Given the description of an element on the screen output the (x, y) to click on. 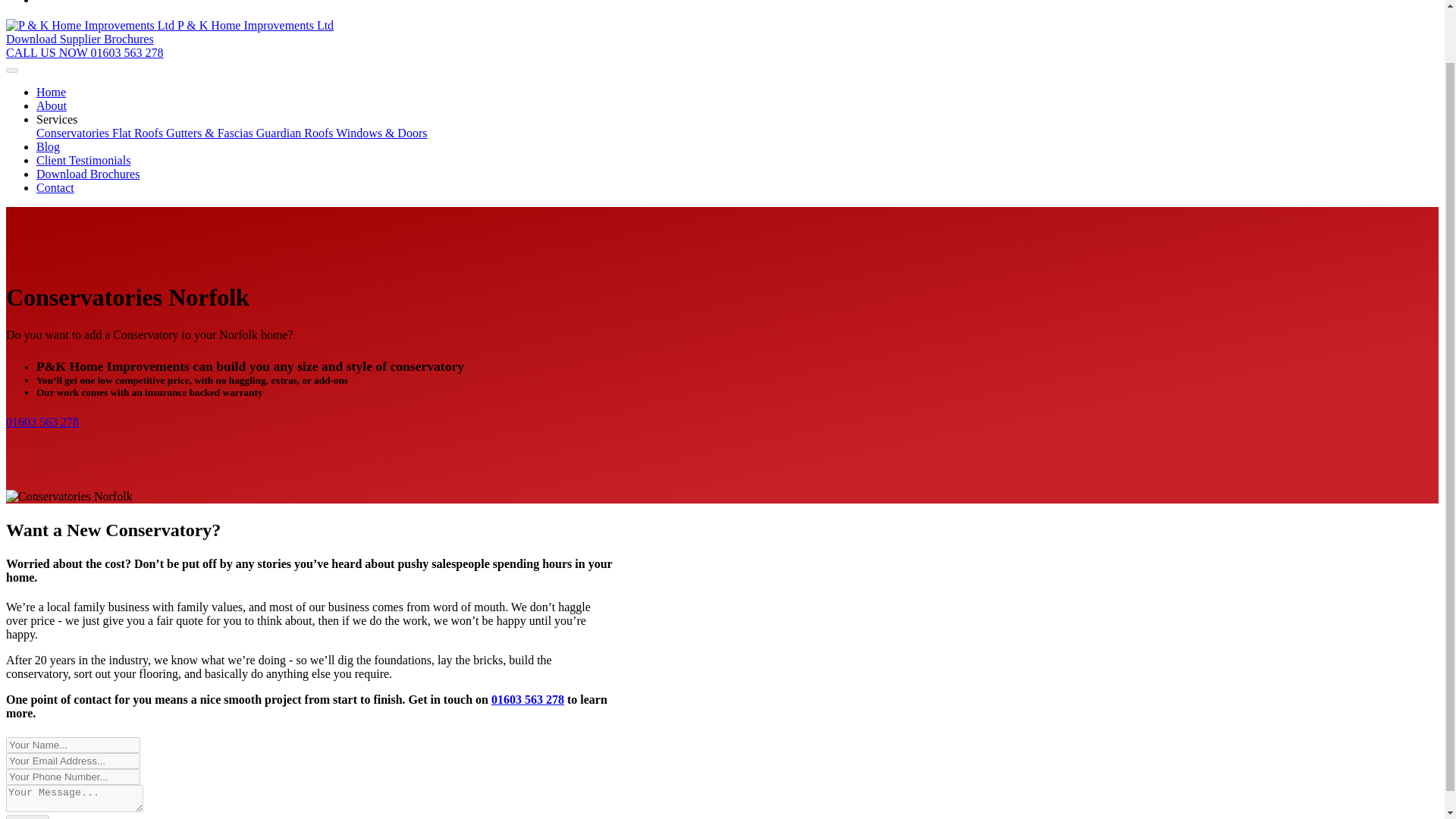
Link to Blog (47, 146)
Link to Home (50, 91)
Link to Client Testimonials (83, 160)
01603 563 278 (528, 698)
Guardian Roofs (296, 132)
About (51, 105)
Blog (47, 146)
Link to Guardian Roofs (296, 132)
01603 563 278 (41, 421)
Call Us (528, 698)
Download Supplier Brochures (79, 38)
Link to About (51, 105)
Link to Conservatories (74, 132)
Conservatories (74, 132)
Flat Roofs (138, 132)
